Given the description of an element on the screen output the (x, y) to click on. 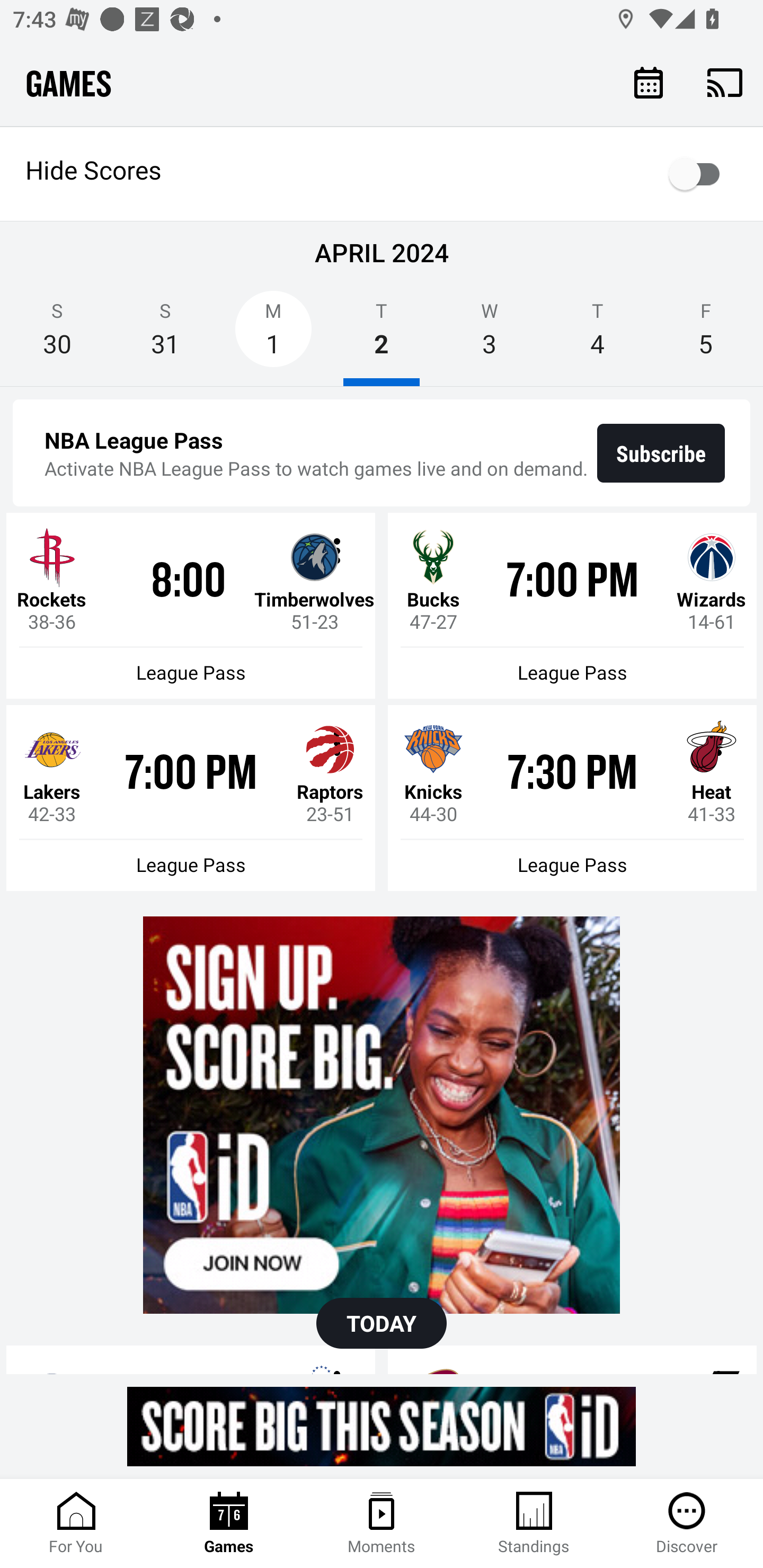
Cast. Disconnected (724, 82)
Calendar (648, 81)
Hide Scores (381, 174)
S 30 (57, 334)
S 31 (165, 334)
M 1 (273, 334)
T 2 (381, 334)
W 3 (489, 334)
T 4 (597, 334)
F 5 (705, 334)
Subscribe (660, 452)
Bucks 47-27 7:00 PM Wizards 14-61 League Pass (571, 605)
Lakers 42-33 7:00 PM Raptors 23-51 League Pass (190, 797)
Knicks 44-30 7:30 PM Heat 41-33 League Pass (571, 797)
g5nqqygr7owph (381, 1114)
TODAY (381, 1323)
g5nqqygr7owph (381, 1426)
For You (76, 1523)
Moments (381, 1523)
Standings (533, 1523)
Discover (686, 1523)
